Given the description of an element on the screen output the (x, y) to click on. 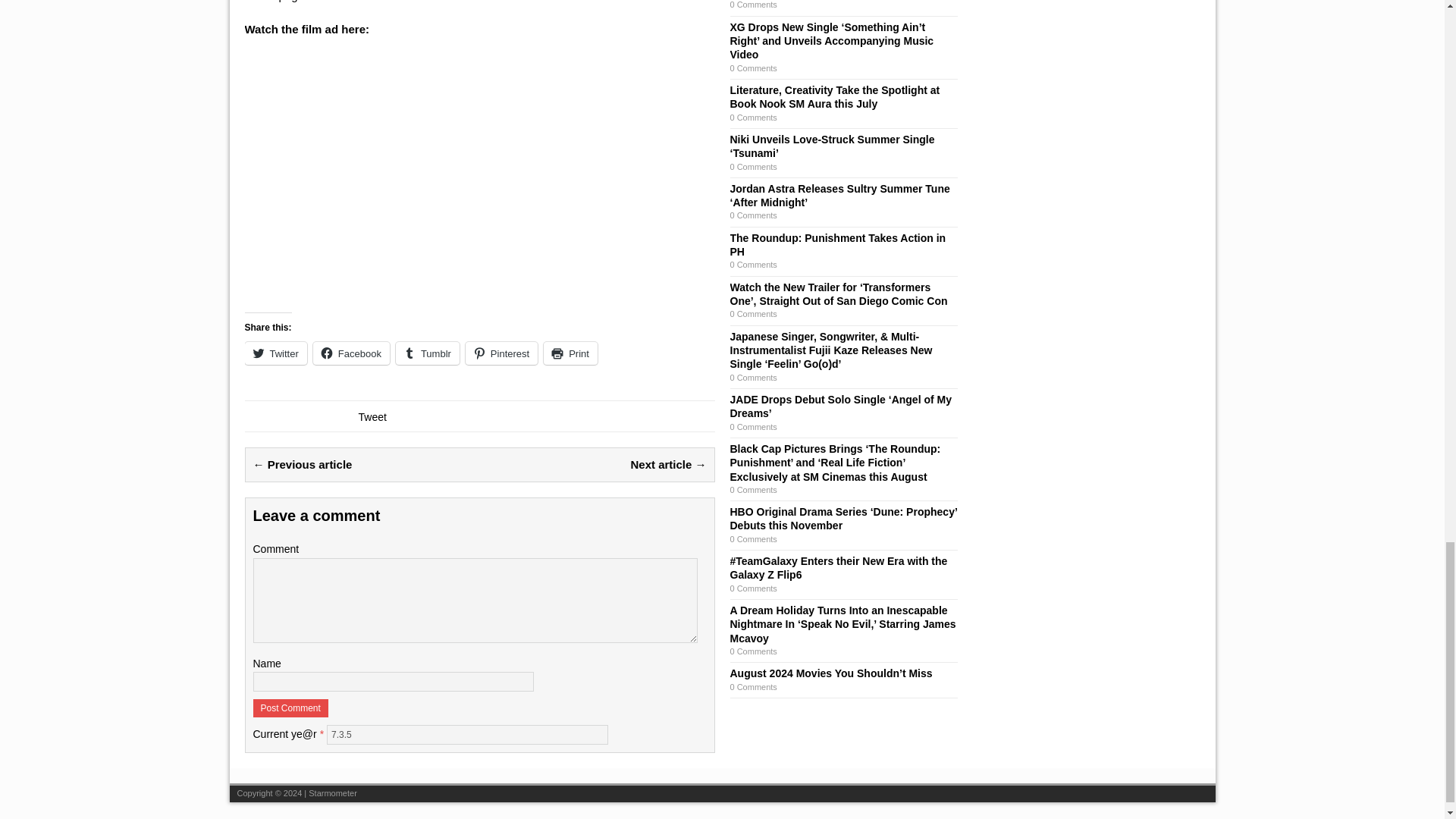
Twitter (274, 353)
Click to share on Tumblr (428, 353)
Click to share on Pinterest (501, 353)
Tweet (371, 417)
Click to share on Twitter (274, 353)
Facebook (351, 353)
Post Comment (291, 708)
Print (569, 353)
Click to share on Facebook (351, 353)
Pinterest (501, 353)
Tumblr (428, 353)
Post Comment (291, 708)
7.3.5 (467, 734)
Click to print (569, 353)
